Given the description of an element on the screen output the (x, y) to click on. 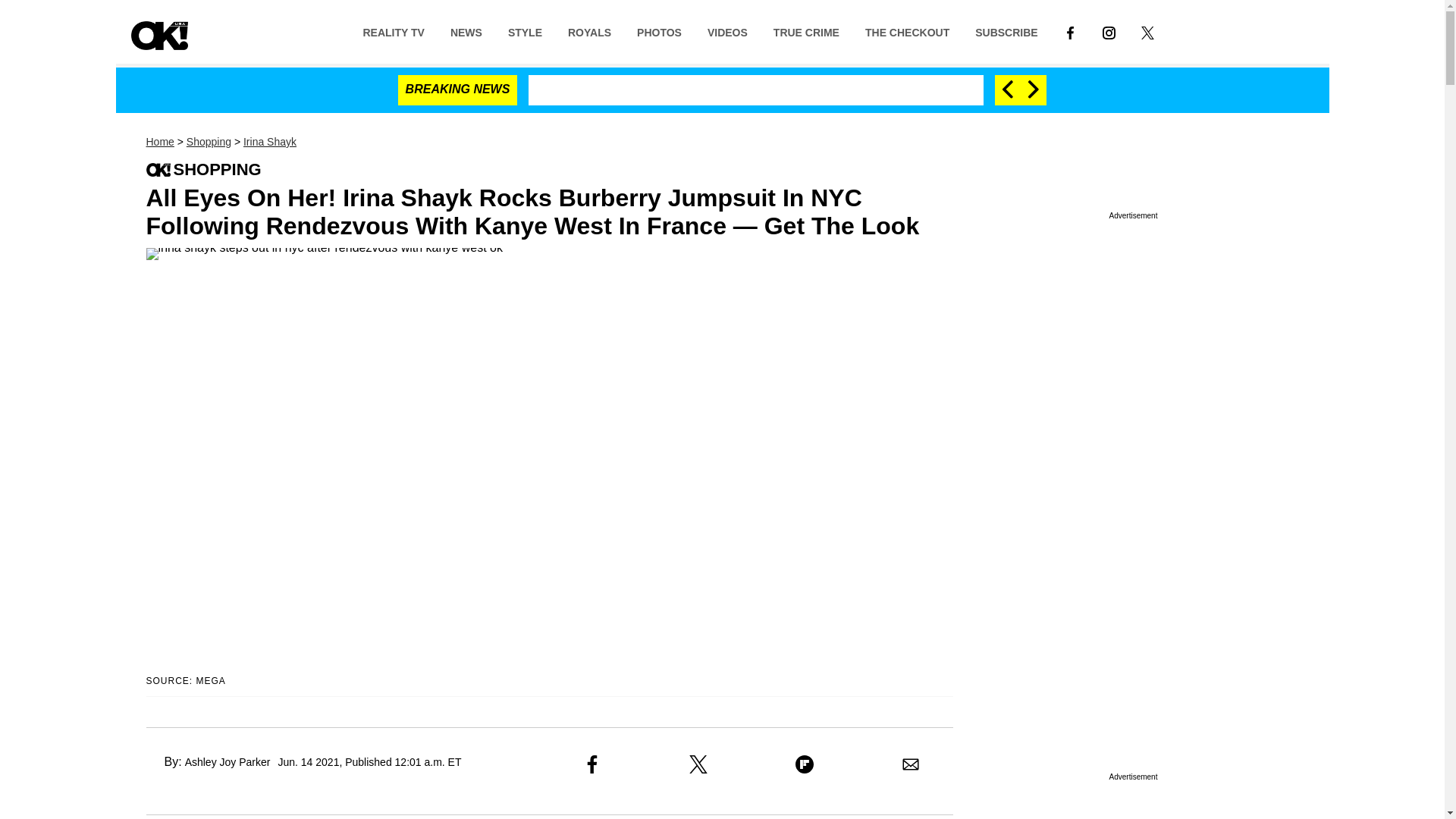
Share to X (697, 764)
PHOTOS (659, 31)
LINK TO X (1147, 31)
THE CHECKOUT (906, 31)
ROYALS (589, 31)
TRUE CRIME (805, 31)
LINK TO FACEBOOK (1070, 31)
Link to X (1147, 31)
REALITY TV (392, 31)
NEWS (466, 31)
LINK TO INSTAGRAM (1108, 31)
STYLE (524, 31)
SUBSCRIBE (1005, 31)
LINK TO X (1147, 32)
VIDEOS (727, 31)
